Given the description of an element on the screen output the (x, y) to click on. 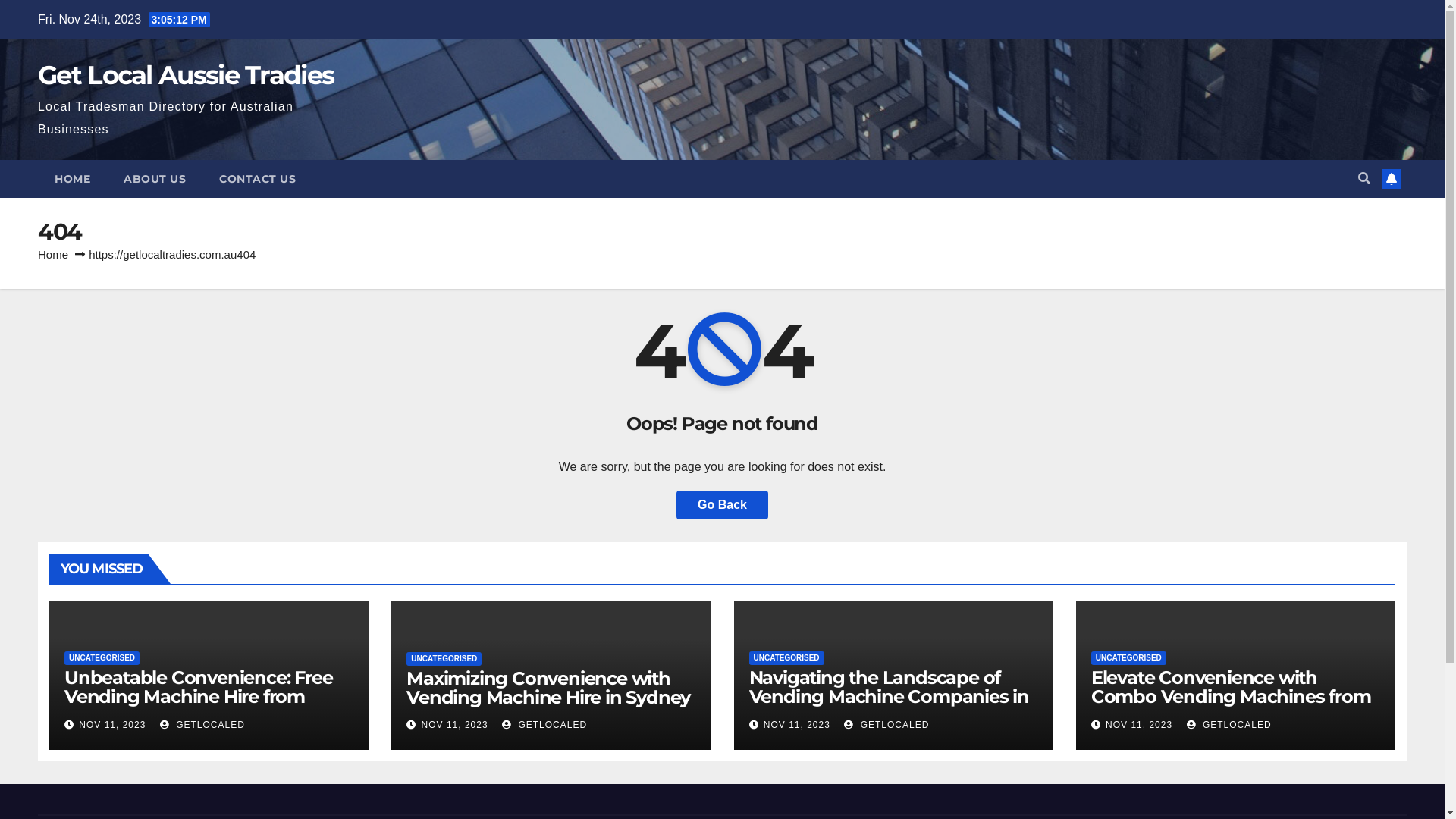
Get Local Aussie Tradies Element type: text (185, 75)
NOV 11, 2023 Element type: text (454, 724)
UNCATEGORISED Element type: text (443, 658)
GETLOCALED Element type: text (886, 724)
ABOUT US Element type: text (154, 178)
NOV 11, 2023 Element type: text (111, 724)
GETLOCALED Element type: text (544, 724)
Go Back Element type: text (722, 504)
UNCATEGORISED Element type: text (101, 658)
Maximizing Convenience with Vending Machine Hire in Sydney Element type: text (548, 687)
NOV 11, 2023 Element type: text (1138, 724)
UNCATEGORISED Element type: text (786, 658)
NOV 11, 2023 Element type: text (796, 724)
GETLOCALED Element type: text (202, 724)
HOME Element type: text (71, 178)
Home Element type: text (52, 253)
CONTACT US Element type: text (257, 178)
UNCATEGORISED Element type: text (1128, 658)
GETLOCALED Element type: text (1228, 724)
